Given the description of an element on the screen output the (x, y) to click on. 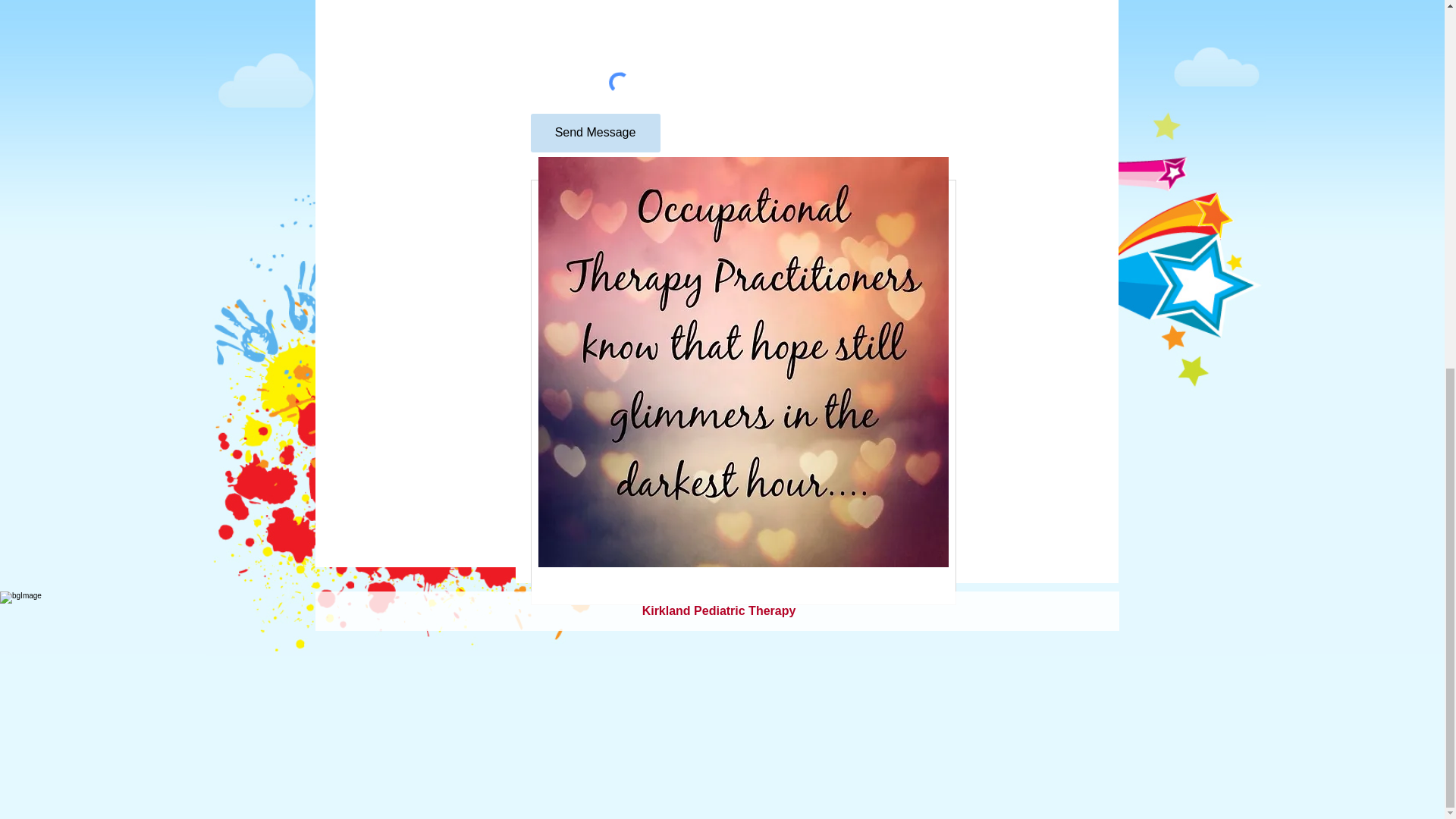
Send Message (596, 132)
